Given the description of an element on the screen output the (x, y) to click on. 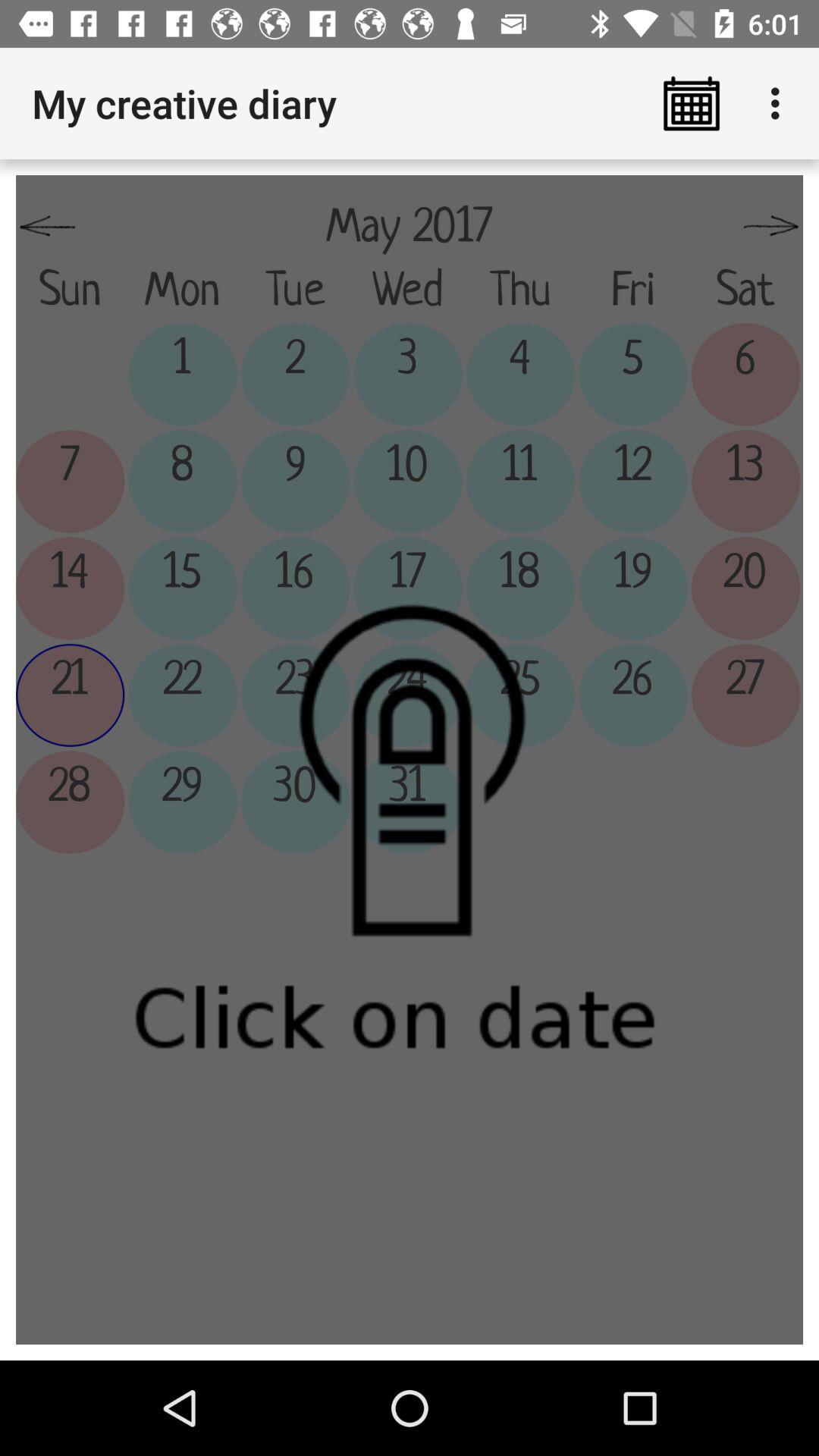
open the icon next to the may 2017 (47, 226)
